Given the description of an element on the screen output the (x, y) to click on. 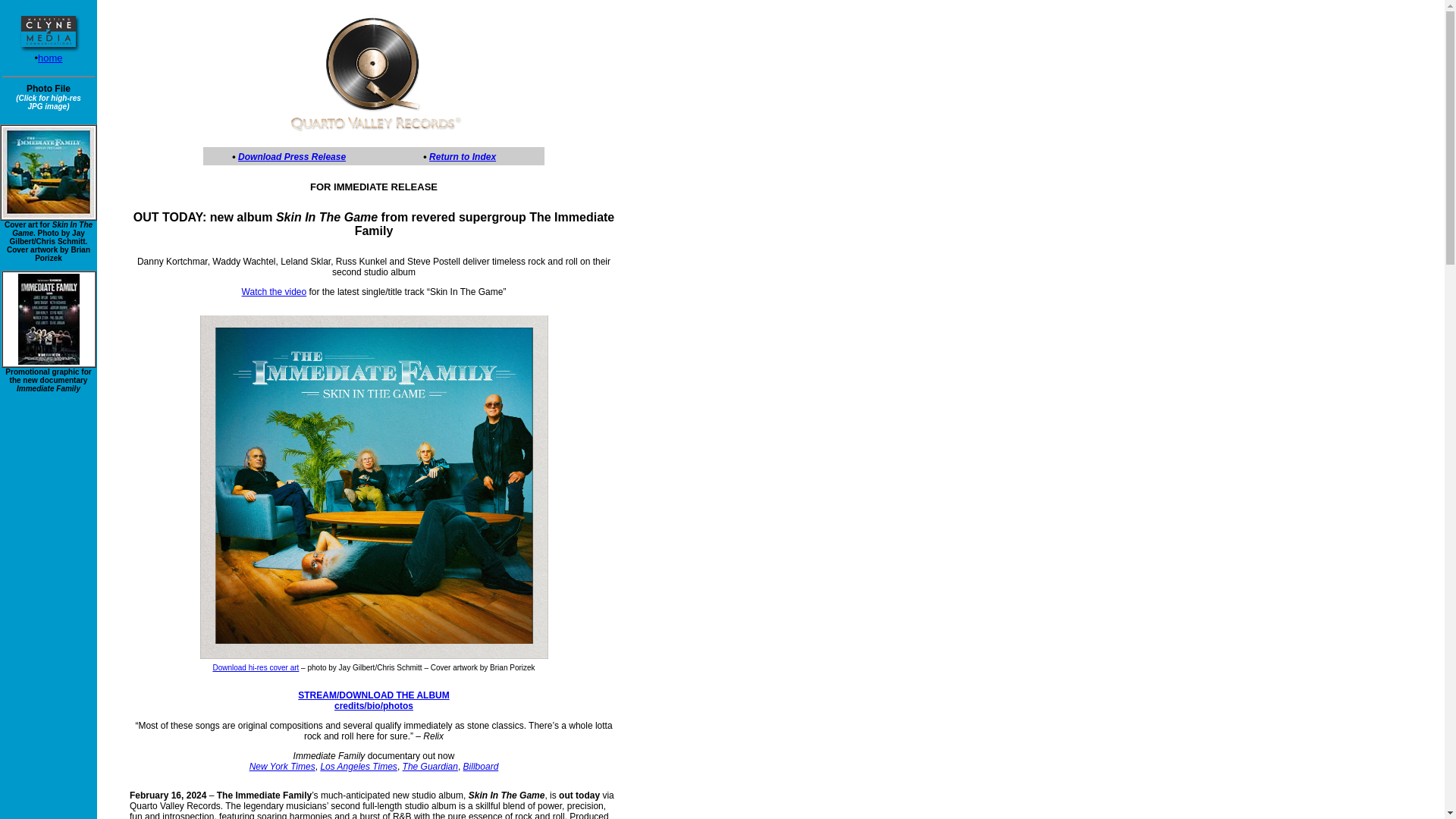
Watch the video (274, 291)
New York Times (281, 766)
home (49, 57)
Download Press Release (292, 156)
Billboard (481, 766)
Return to Index (462, 156)
Download hi-res cover art (255, 667)
Los Angeles Times (358, 766)
The Guardian (430, 766)
